Given the description of an element on the screen output the (x, y) to click on. 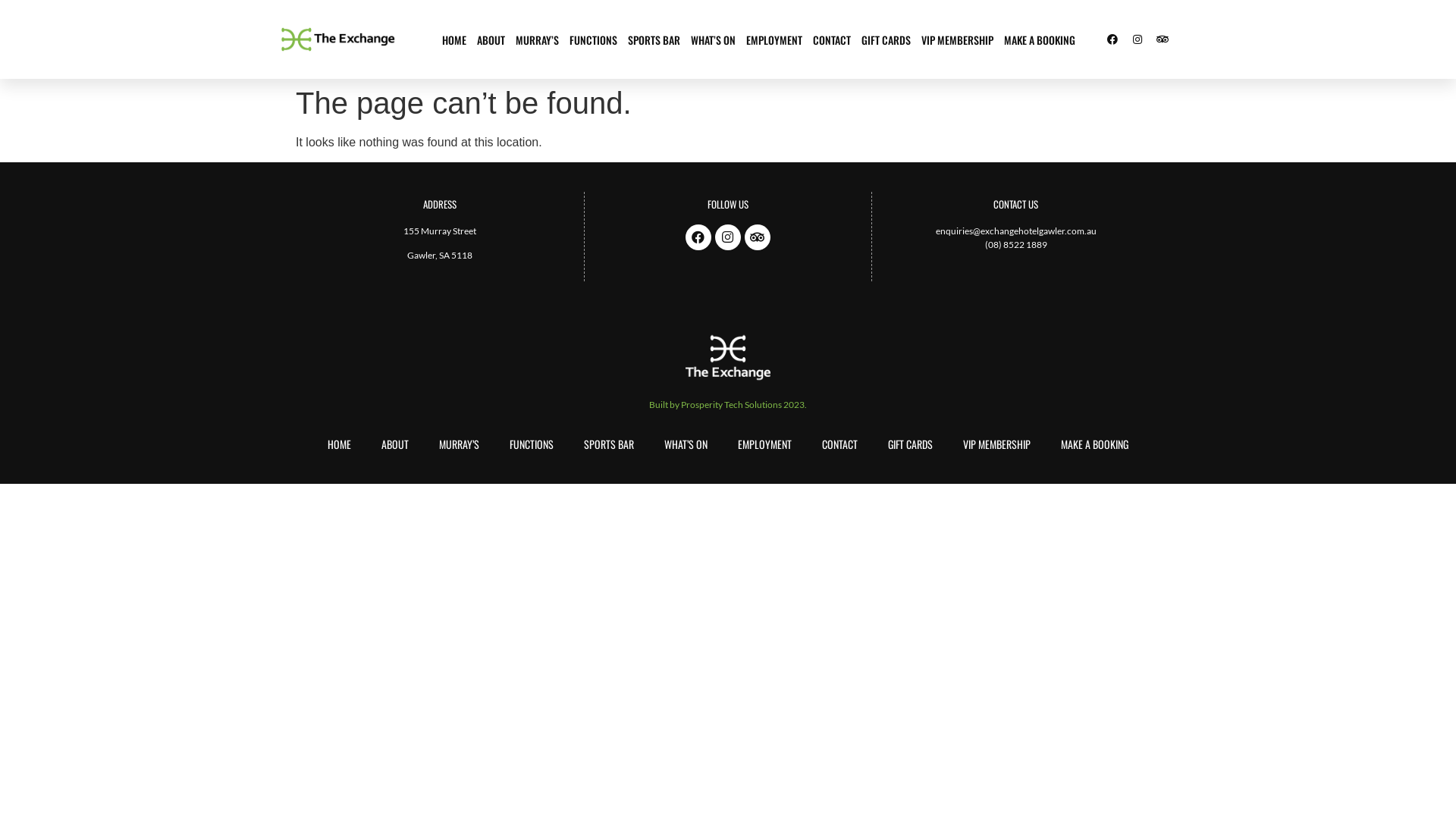
Built by Prosperity Tech Solutions 2023. Element type: text (727, 403)
VIP MEMBERSHIP Element type: text (956, 39)
GIFT CARDS Element type: text (885, 39)
ABOUT Element type: text (394, 443)
FUNCTIONS Element type: text (531, 443)
SPORTS BAR Element type: text (653, 39)
ABOUT Element type: text (490, 39)
FUNCTIONS Element type: text (592, 39)
enquiries@exchangehotelgawler.com.au Element type: text (1015, 230)
GIFT CARDS Element type: text (909, 443)
EMPLOYMENT Element type: text (773, 39)
SPORTS BAR Element type: text (608, 443)
MAKE A BOOKING Element type: text (1094, 443)
HOME Element type: text (339, 443)
EMPLOYMENT Element type: text (764, 443)
(08) 8522 1889 Element type: text (1016, 244)
VIP MEMBERSHIP Element type: text (996, 443)
CONTACT Element type: text (831, 39)
CONTACT Element type: text (839, 443)
HOME Element type: text (453, 39)
MAKE A BOOKING Element type: text (1039, 39)
